Given the description of an element on the screen output the (x, y) to click on. 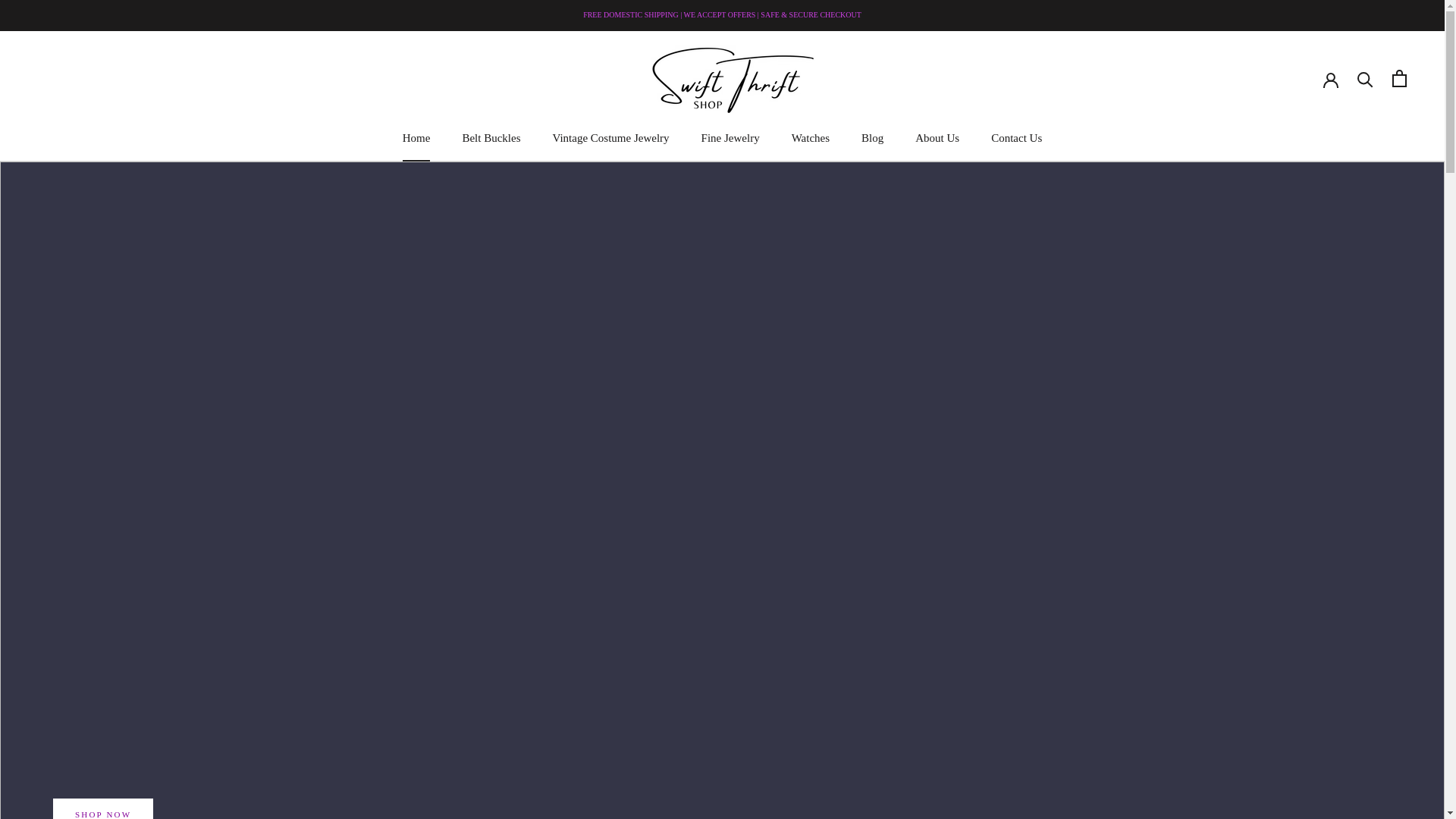
SHOP NOW (102, 808)
Vintage Costume Jewelry (937, 137)
